Given the description of an element on the screen output the (x, y) to click on. 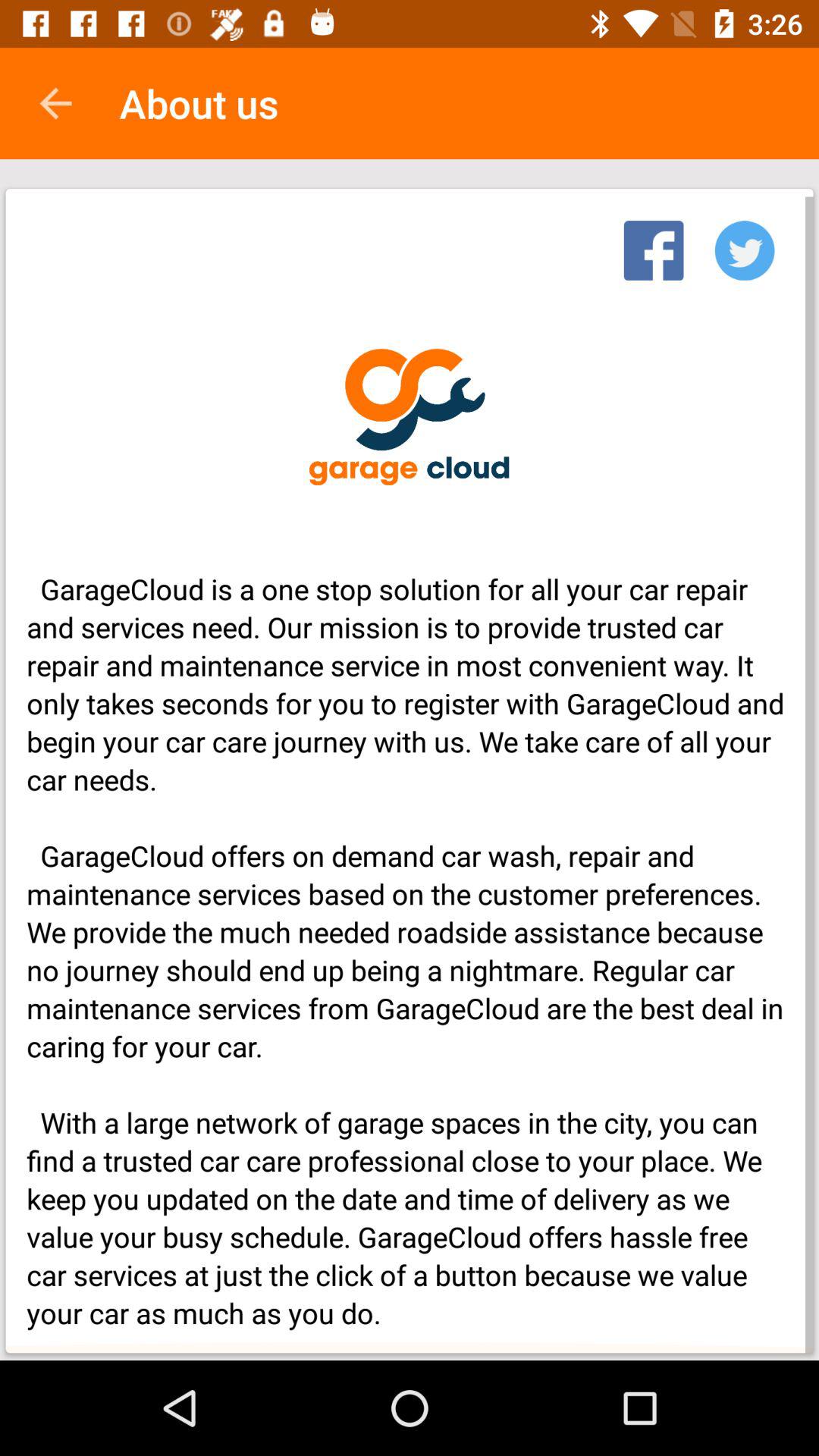
select icon above the garagecloud is a item (744, 246)
